Given the description of an element on the screen output the (x, y) to click on. 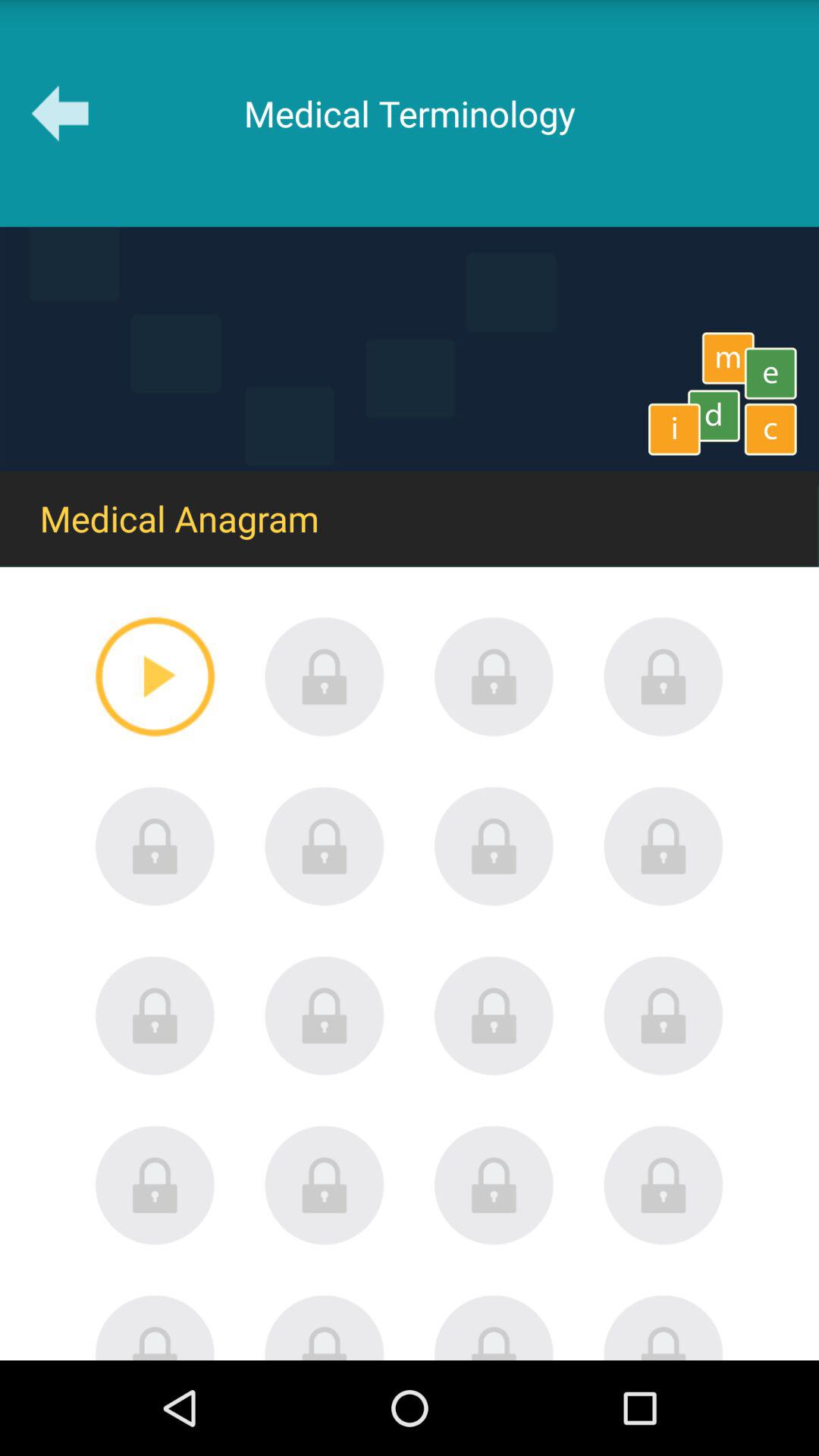
select locked button (324, 676)
